Given the description of an element on the screen output the (x, y) to click on. 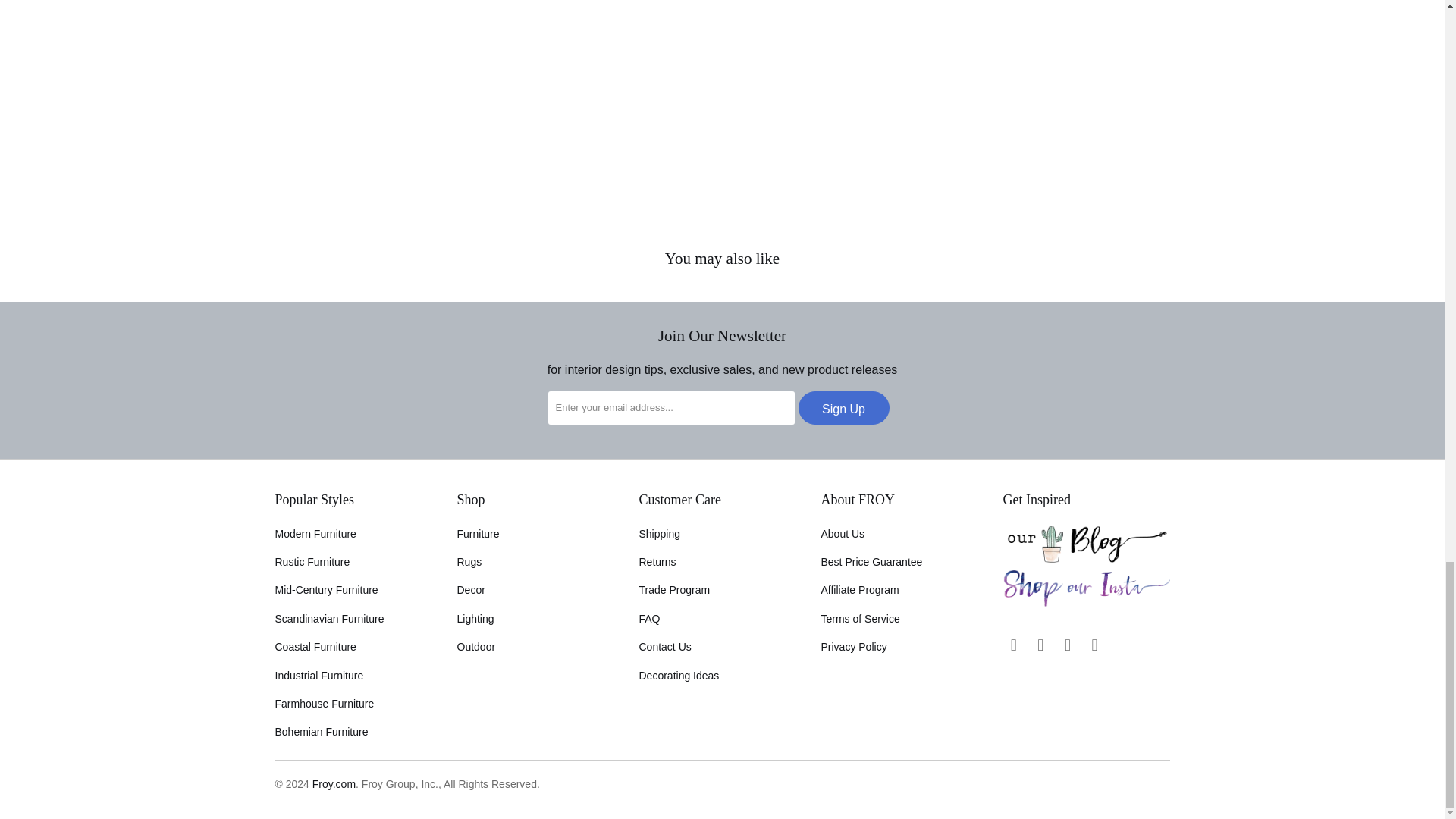
FROY Blog (1086, 558)
Sign Up (842, 408)
Froy.com on Facebook (1014, 645)
Froy.com on Instagram (1040, 645)
FROY Instagram Shop (1086, 603)
